Given the description of an element on the screen output the (x, y) to click on. 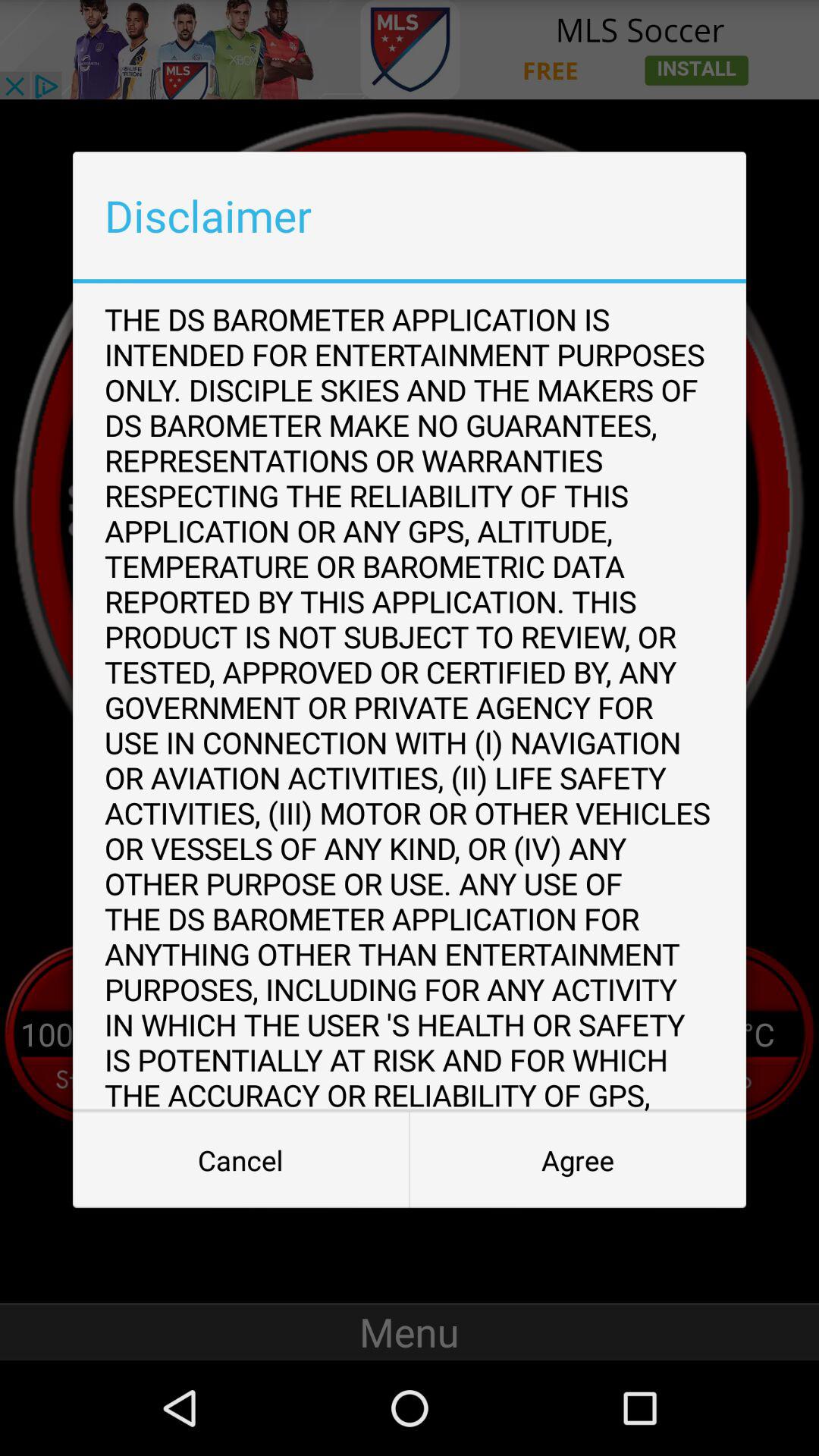
turn on agree button (578, 1160)
